Given the description of an element on the screen output the (x, y) to click on. 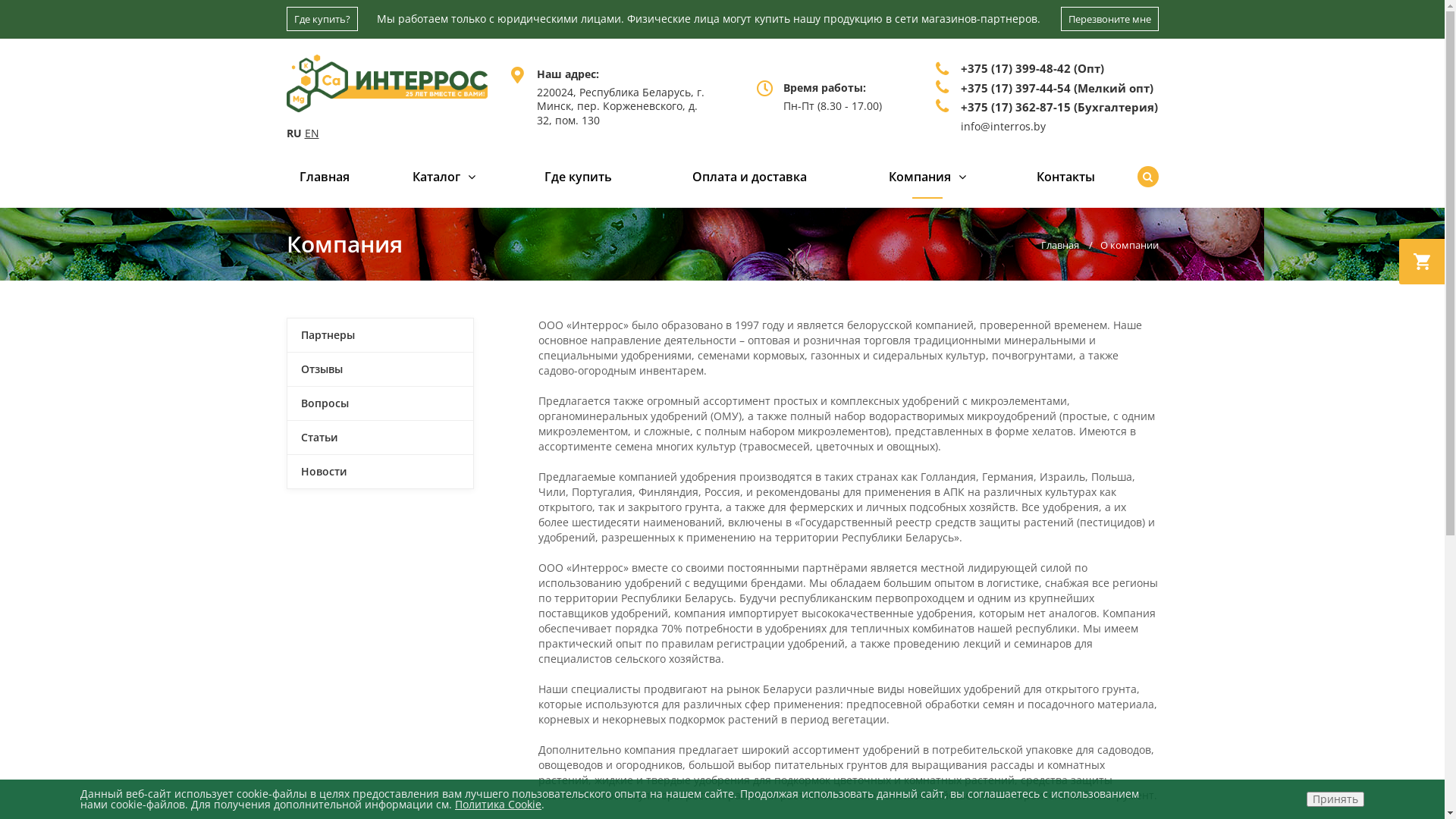
RU Element type: text (293, 132)
info@interros.by Element type: text (1002, 125)
EN Element type: text (311, 132)
